Given the description of an element on the screen output the (x, y) to click on. 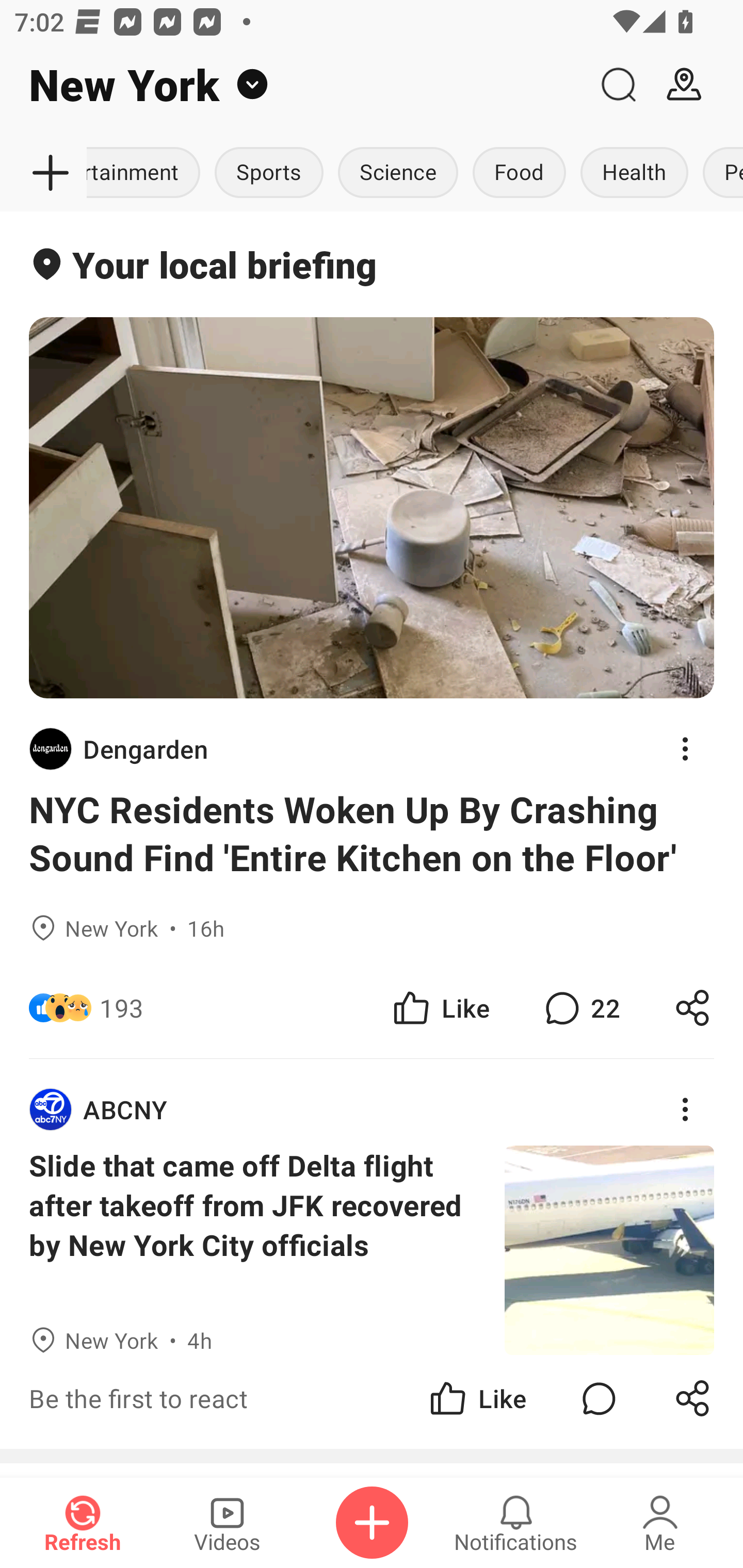
New York (292, 84)
Entertainment (146, 172)
Sports (268, 172)
Science (397, 172)
Food (519, 172)
Health (634, 172)
193 (121, 1007)
Like (439, 1007)
22 (579, 1007)
Be the first to react (244, 1397)
Like (476, 1397)
Videos (227, 1522)
Notifications (516, 1522)
Me (659, 1522)
